Given the description of an element on the screen output the (x, y) to click on. 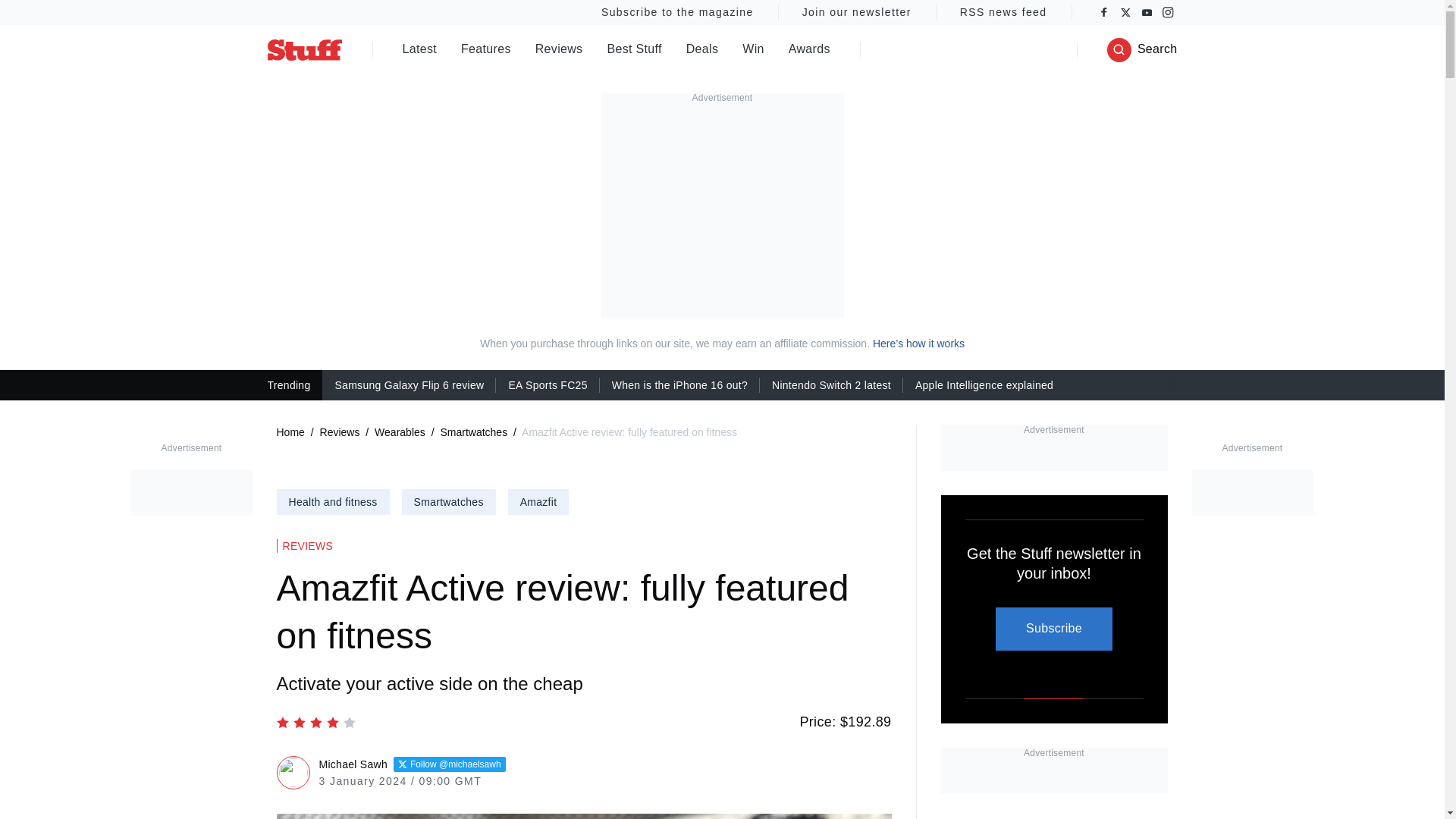
Reviews (559, 50)
Instagram (1167, 12)
Twitter (1125, 12)
Join our newsletter (856, 11)
Features (486, 50)
Samsung Galaxy Flip 6 review (408, 384)
Subscribe to the magazine (676, 11)
Facebook (1103, 12)
Awards (809, 50)
Nintendo Switch 2 latest (831, 384)
